Given the description of an element on the screen output the (x, y) to click on. 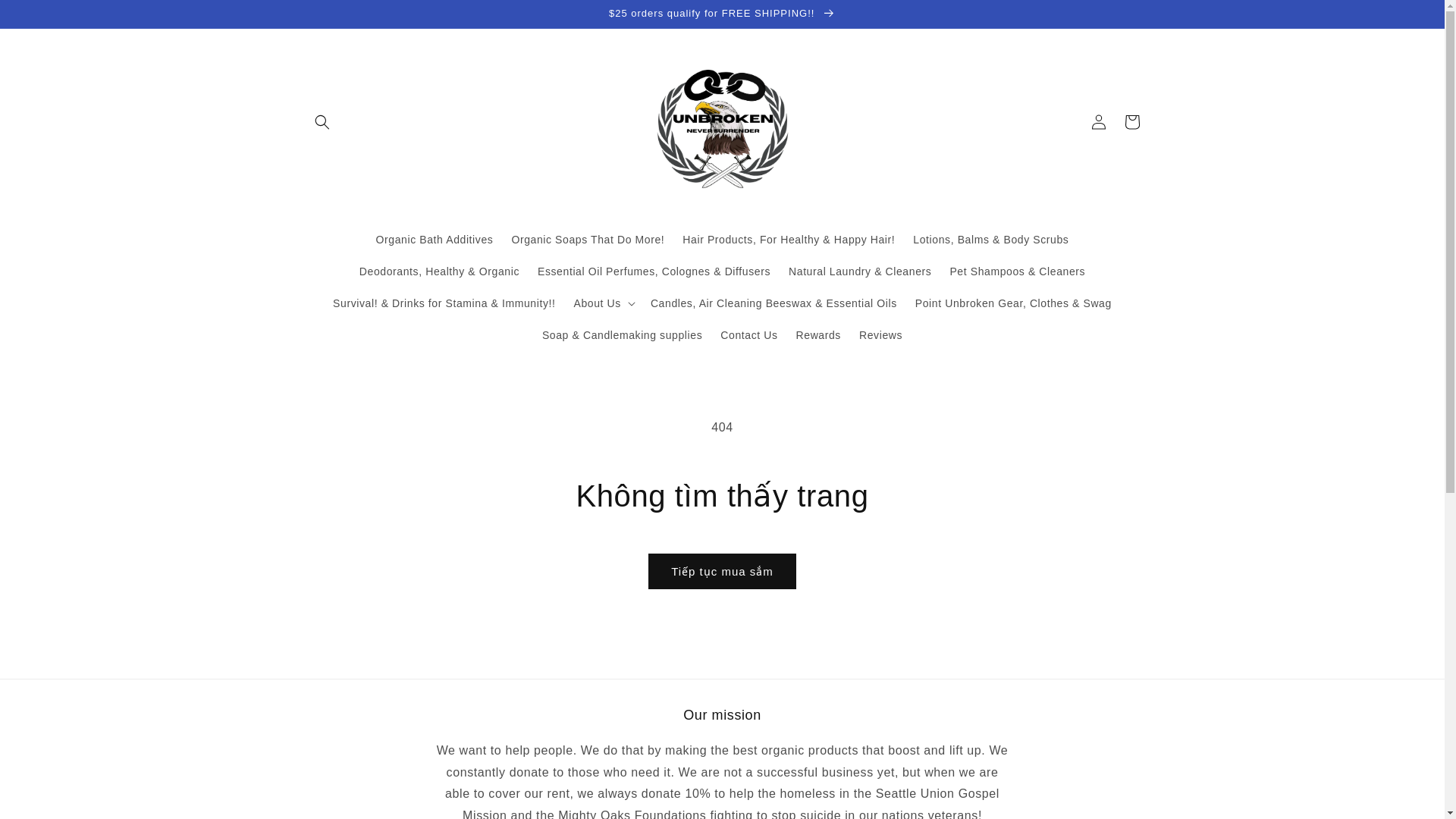
Organic Bath Additives (434, 239)
Organic Soaps That Do More! (587, 239)
